Given the description of an element on the screen output the (x, y) to click on. 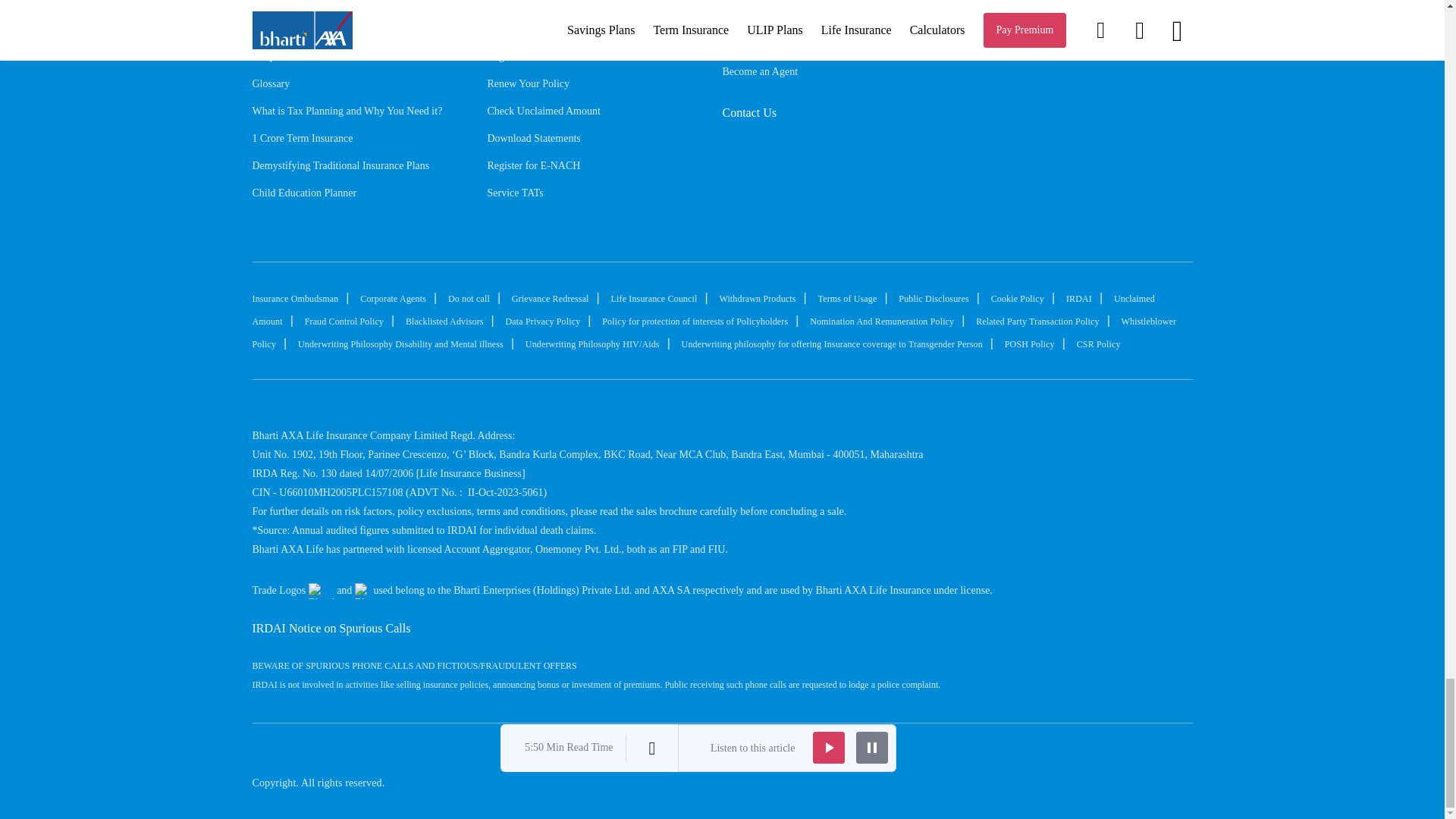
Bharti AXA Life Insurance Logo (321, 590)
AXA Logo (363, 590)
Bharti AXA Life Insurance Logo (1131, 760)
